Given the description of an element on the screen output the (x, y) to click on. 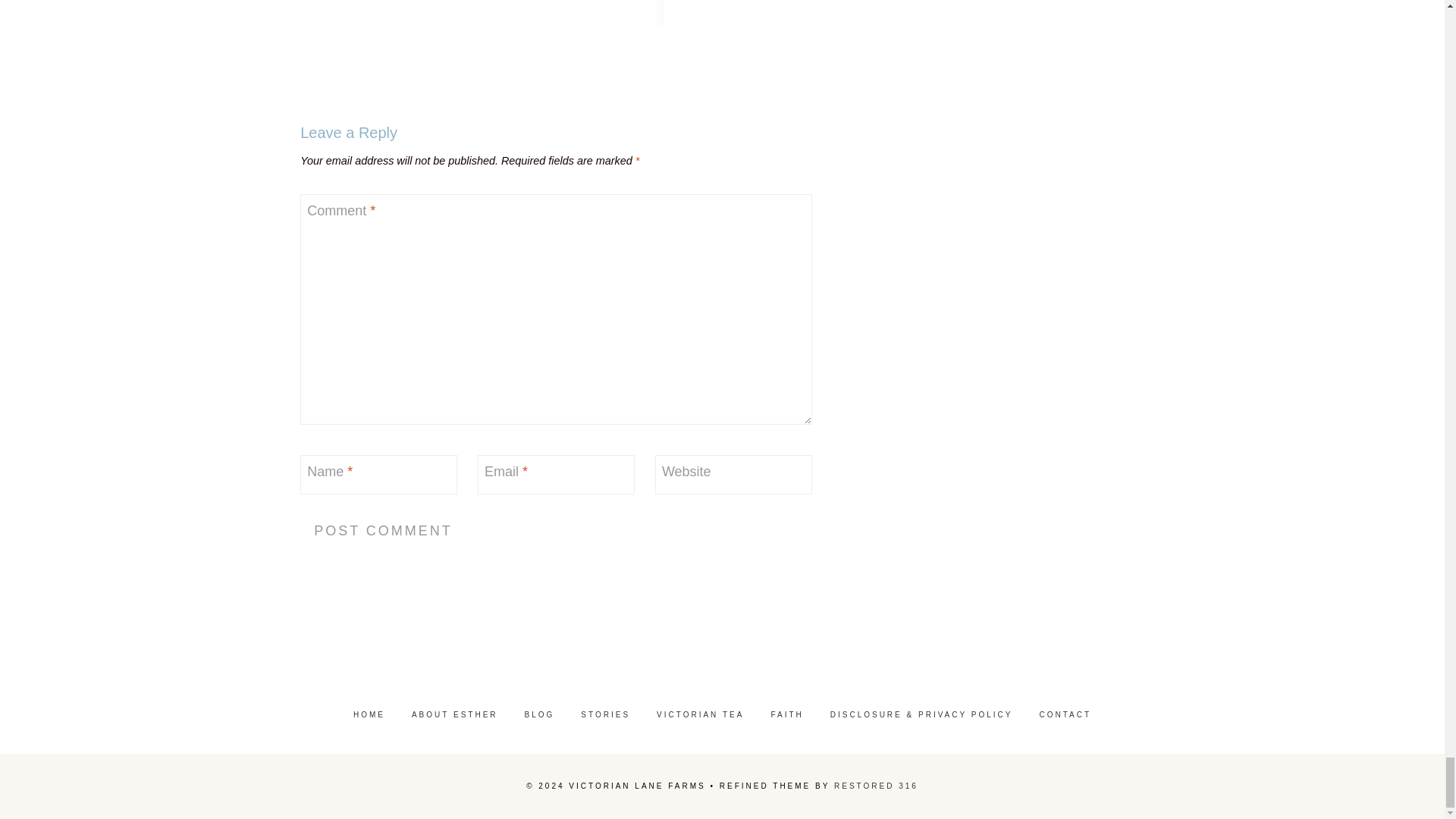
Post Comment (382, 531)
